Given the description of an element on the screen output the (x, y) to click on. 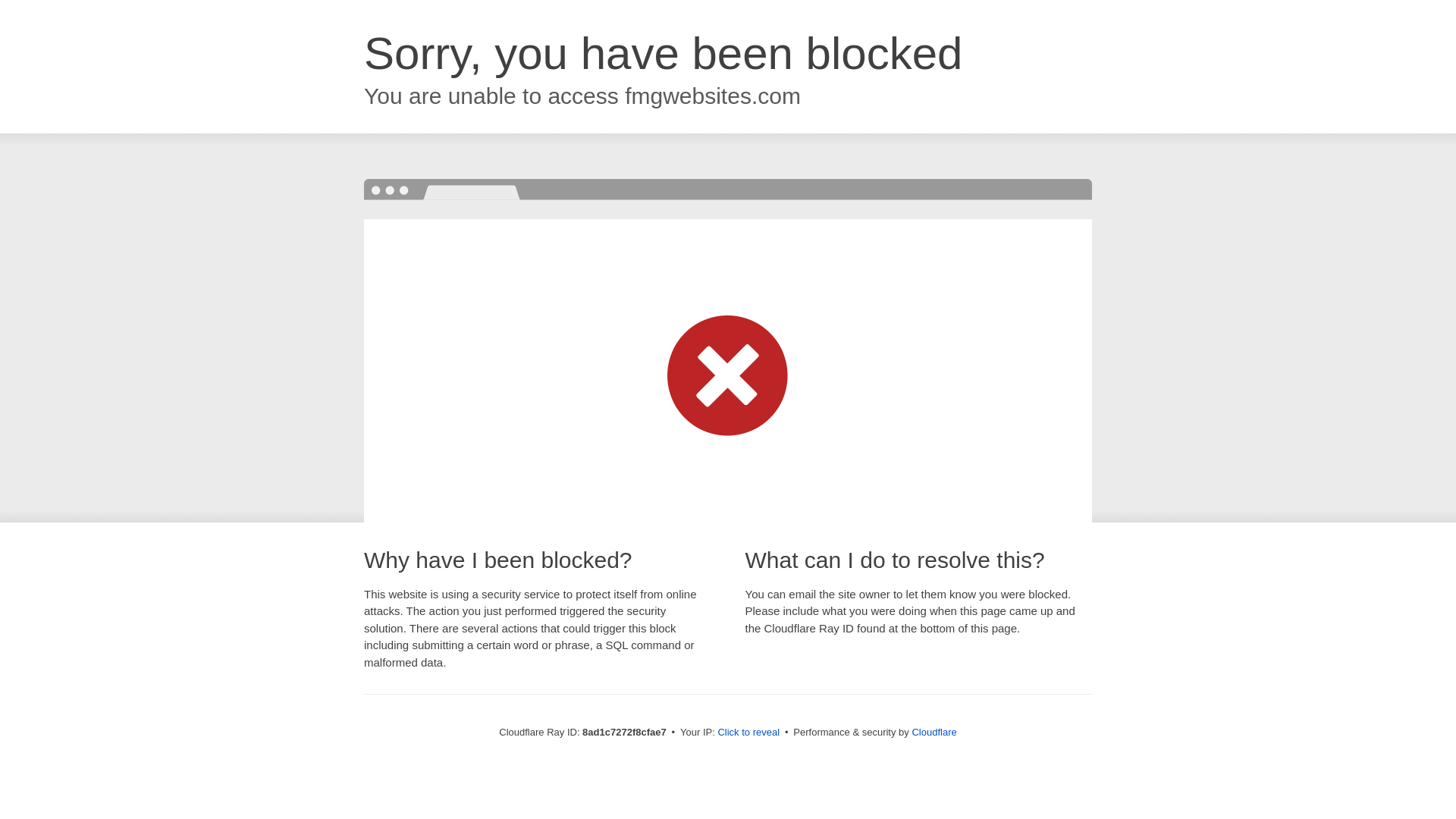
Cloudflare (933, 731)
Click to reveal (747, 732)
